Given the description of an element on the screen output the (x, y) to click on. 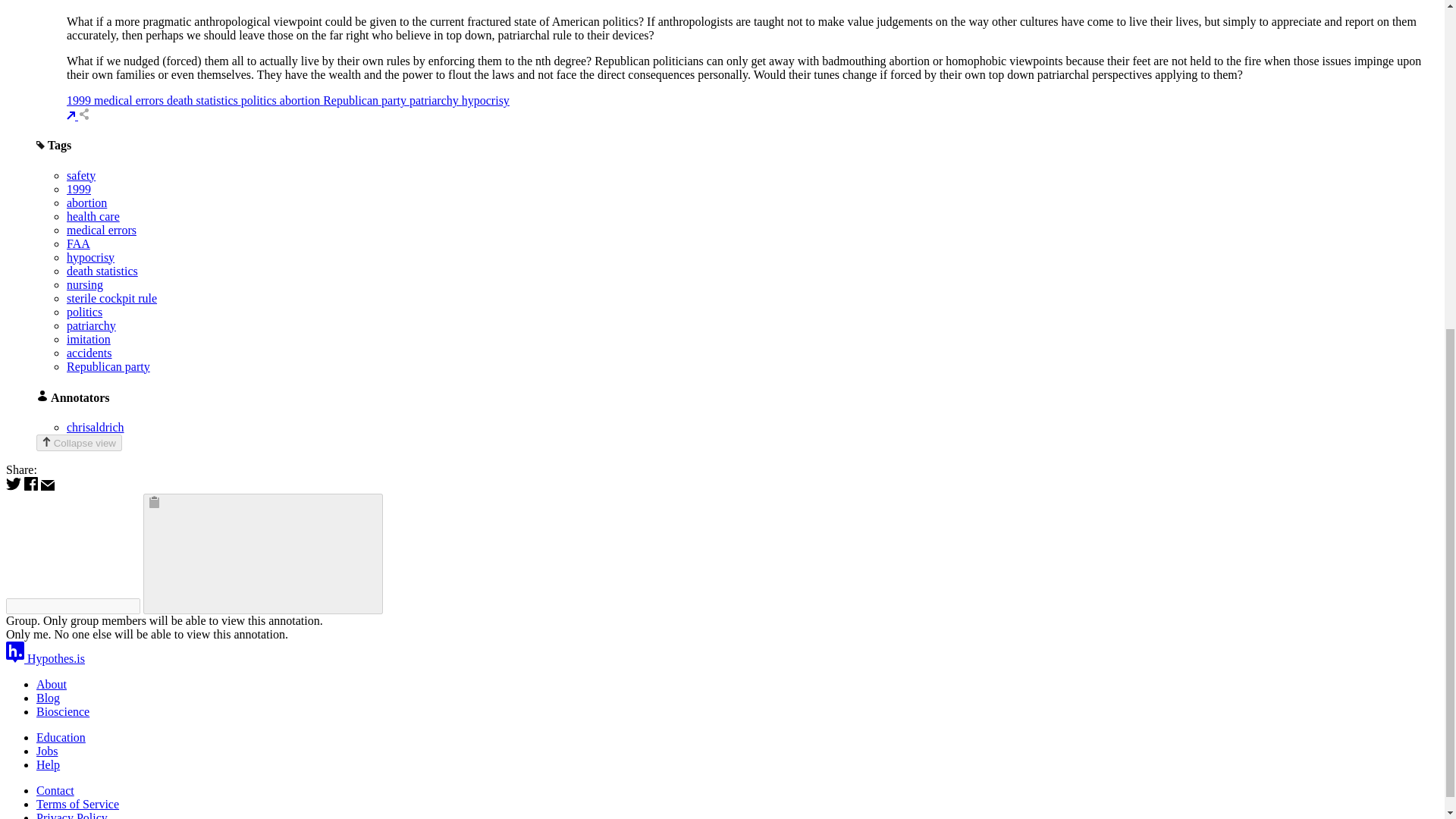
medical errors (130, 100)
1999 (78, 188)
abortion (301, 100)
safety (81, 174)
Republican party (366, 100)
hypocrisy (485, 100)
medical errors (101, 229)
death statistics (102, 270)
abortion (86, 202)
patriarchy (435, 100)
